Given the description of an element on the screen output the (x, y) to click on. 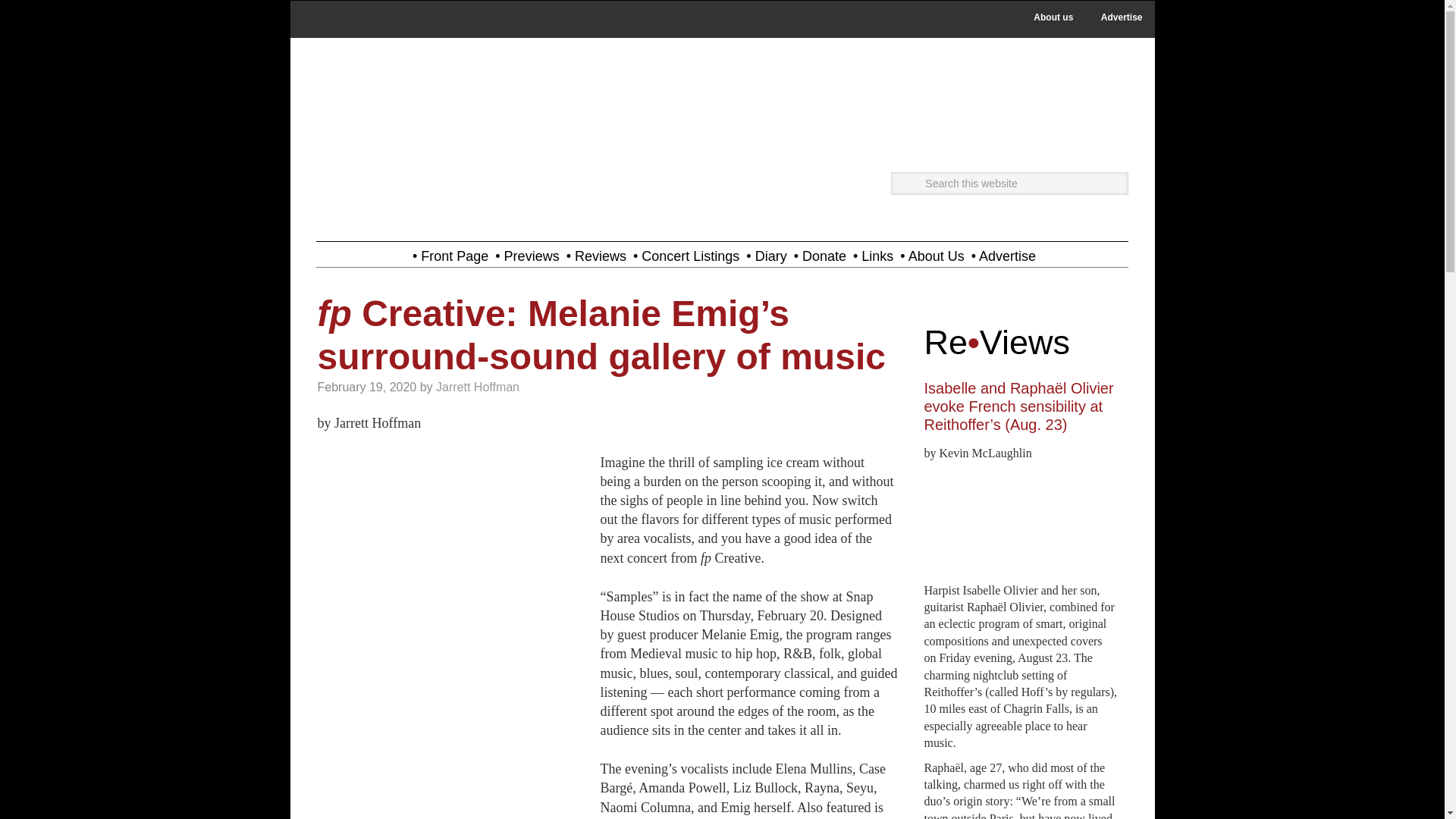
Advertise (1121, 17)
About us (1053, 17)
Jarrett Hoffman (477, 386)
